Given the description of an element on the screen output the (x, y) to click on. 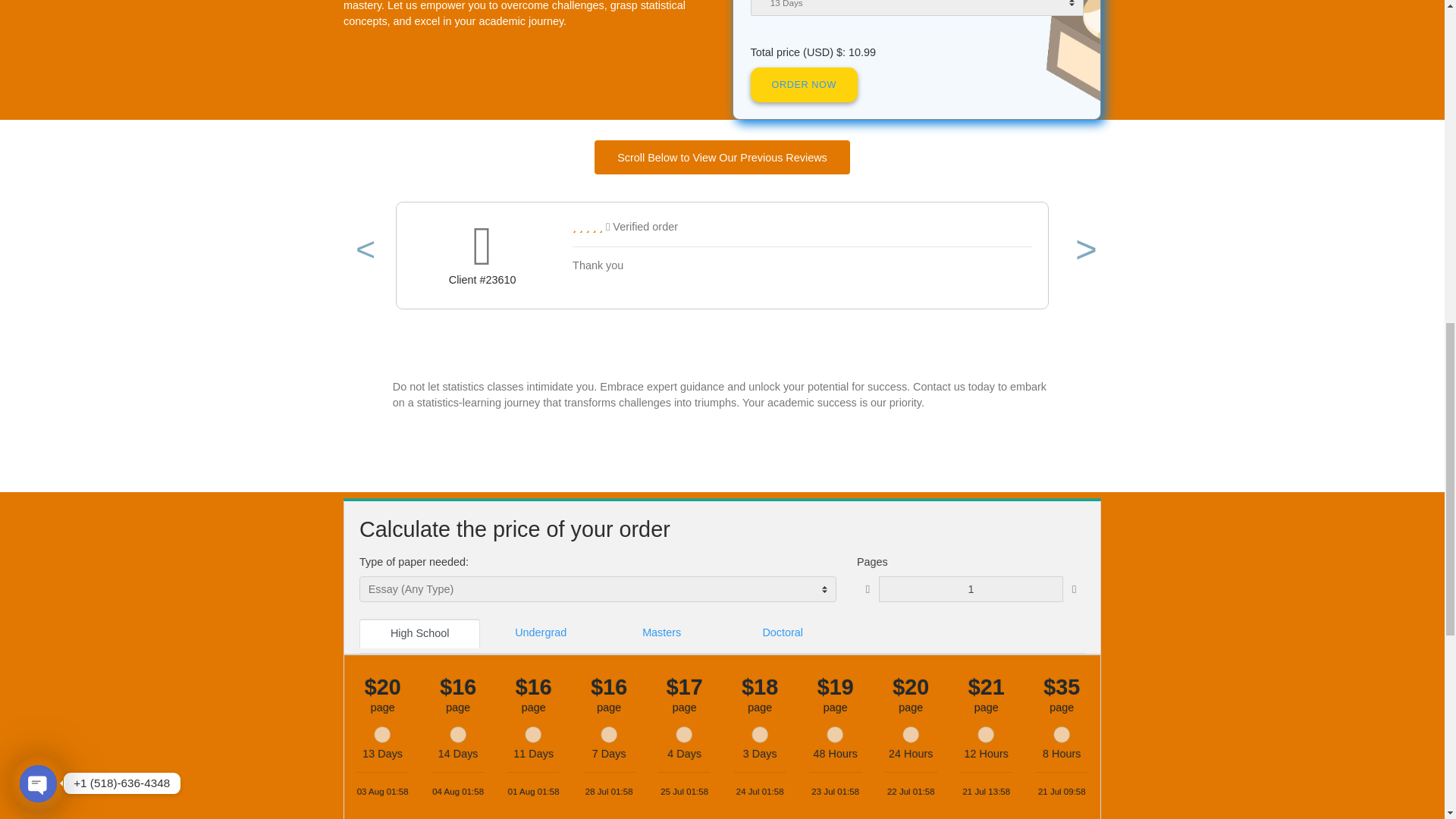
- (844, 1)
Undergrad (601, 794)
Doctoral (869, 794)
High School (466, 794)
1 (984, 3)
Masters (735, 794)
1 (1078, 746)
Scroll Below to View Our Previous Reviews (802, 266)
ORDER NOW (892, 184)
